Given the description of an element on the screen output the (x, y) to click on. 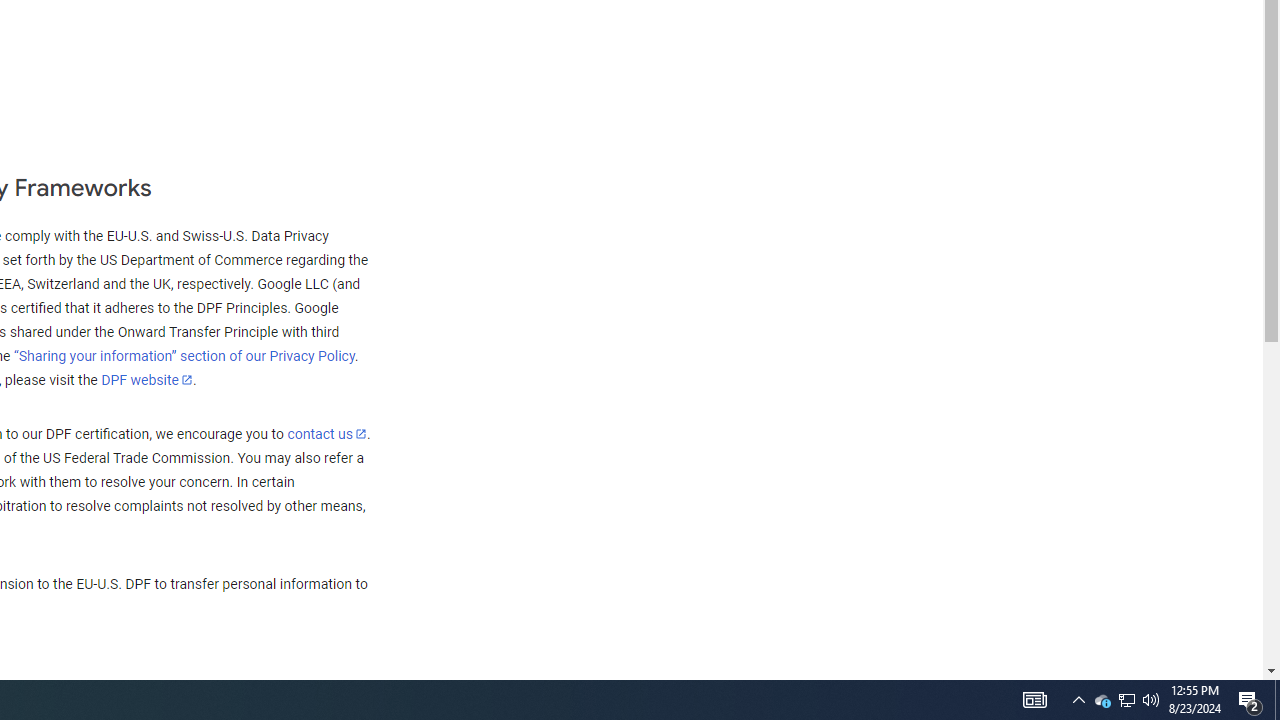
contact us (326, 433)
DPF website (147, 379)
